Given the description of an element on the screen output the (x, y) to click on. 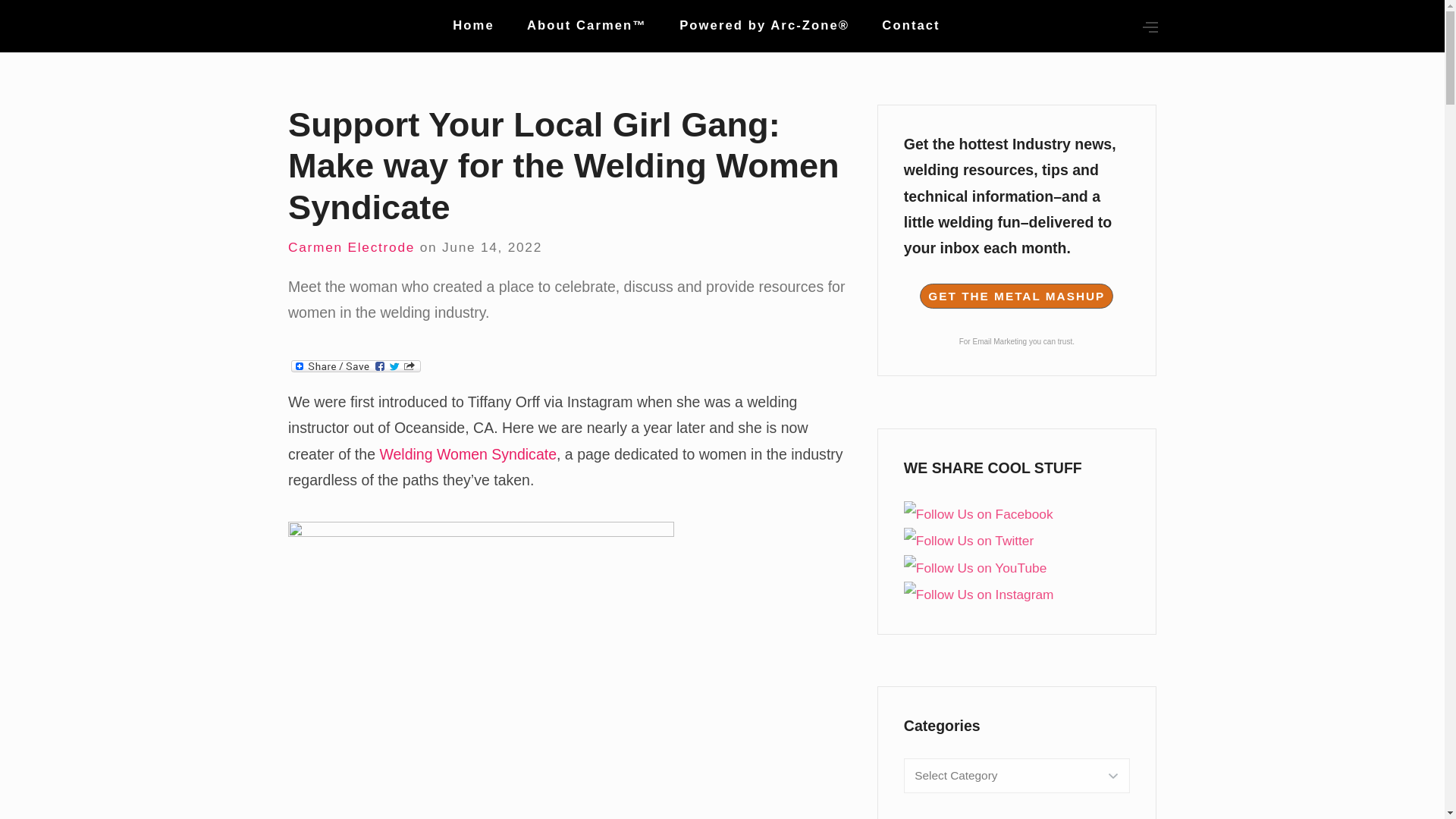
Contact (910, 26)
Follow Us on Twitter (968, 540)
SHOW SECONDARY SIDEBAR (1120, 26)
Home (473, 26)
SHOW SECONDARY SIDEBAR (1150, 26)
Welding Women Syndicate (467, 453)
Follow Us on Instagram (979, 594)
Carmen Electrode (351, 246)
Follow Us on Facebook (978, 514)
Follow Us on YouTube (975, 567)
